Given the description of an element on the screen output the (x, y) to click on. 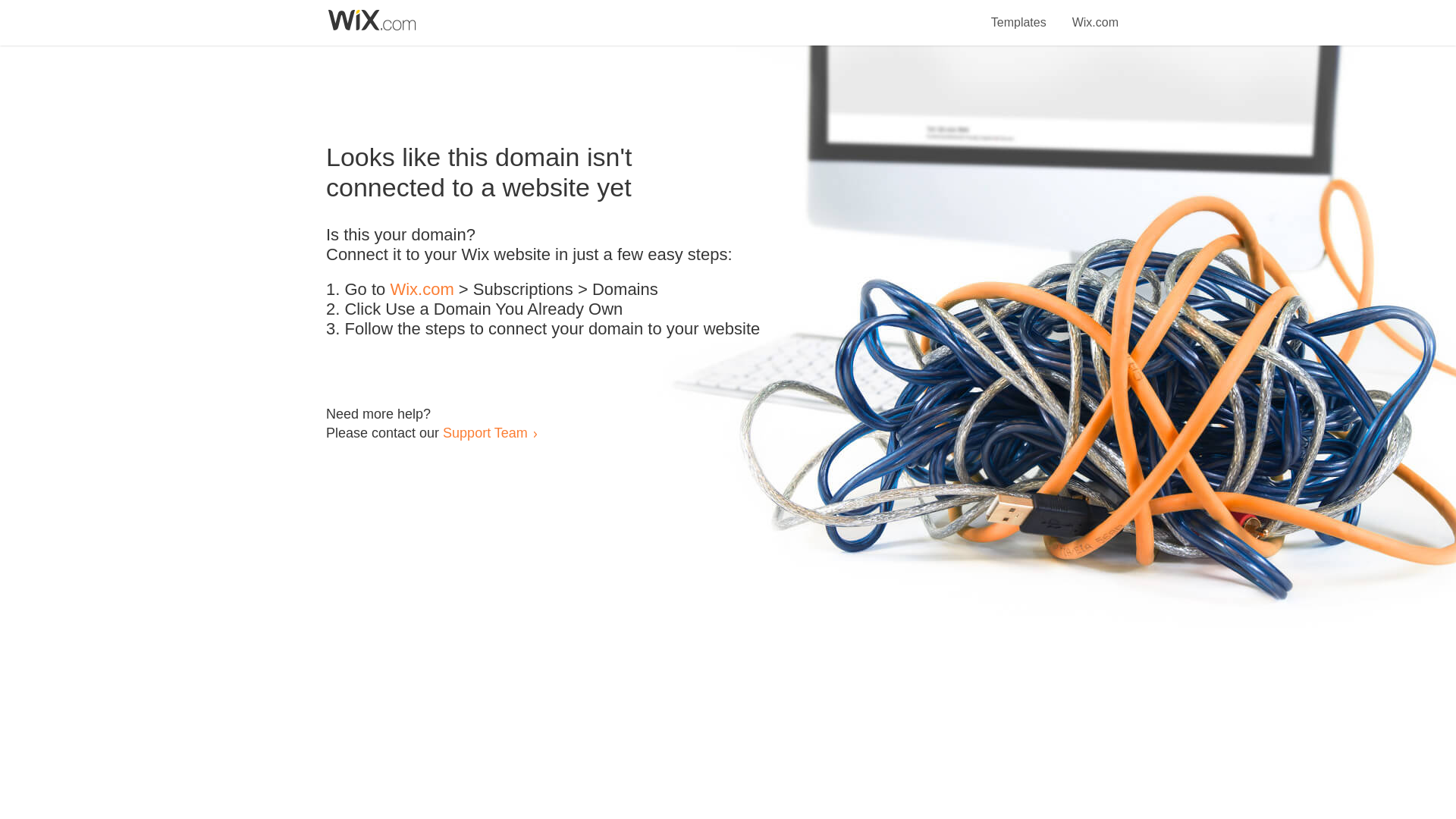
Wix.com (421, 289)
Wix.com (1095, 14)
Templates (1018, 14)
Support Team (484, 432)
